Given the description of an element on the screen output the (x, y) to click on. 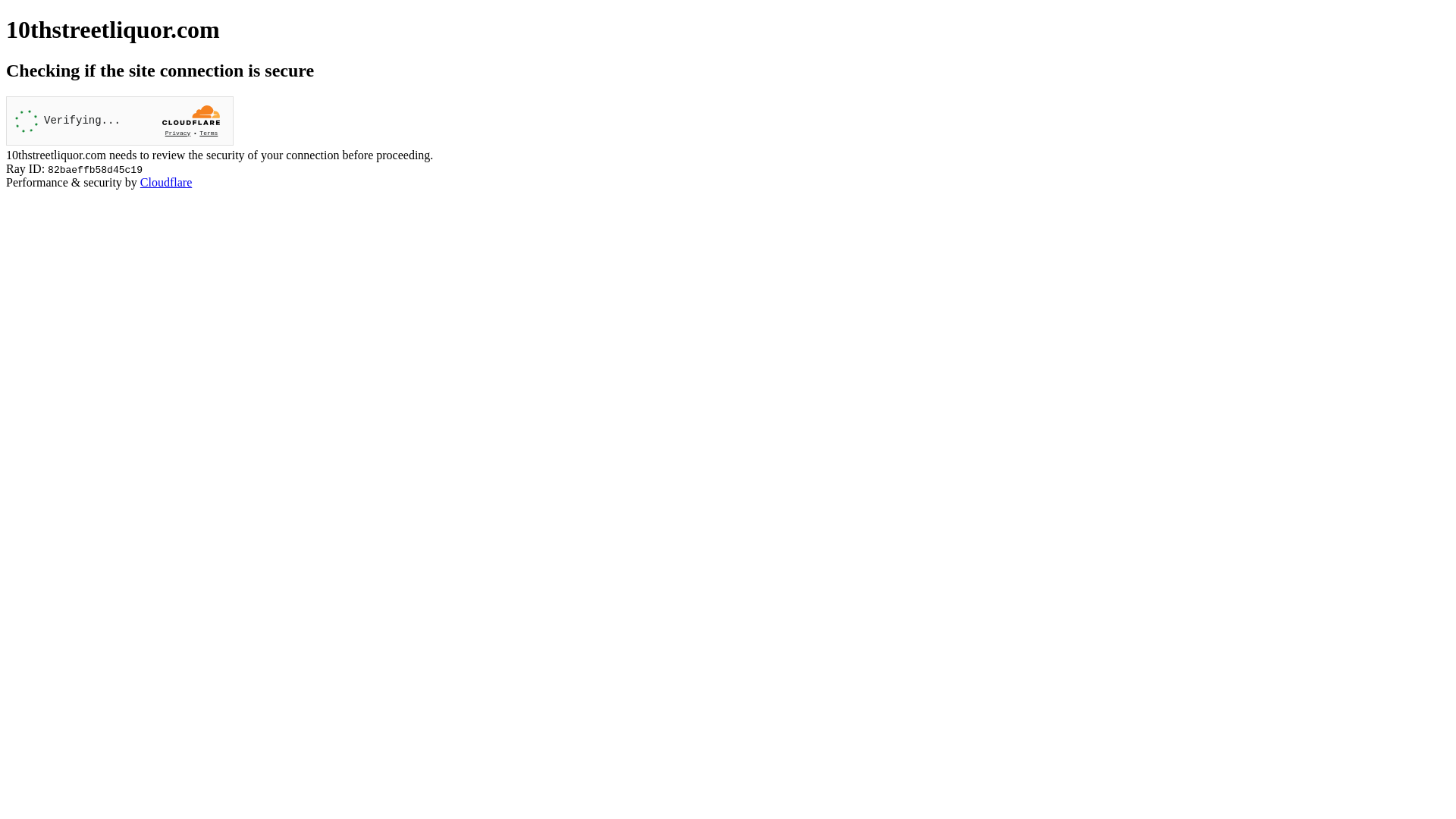
Widget containing a Cloudflare security challenge Element type: hover (119, 120)
Cloudflare Element type: text (165, 181)
